Given the description of an element on the screen output the (x, y) to click on. 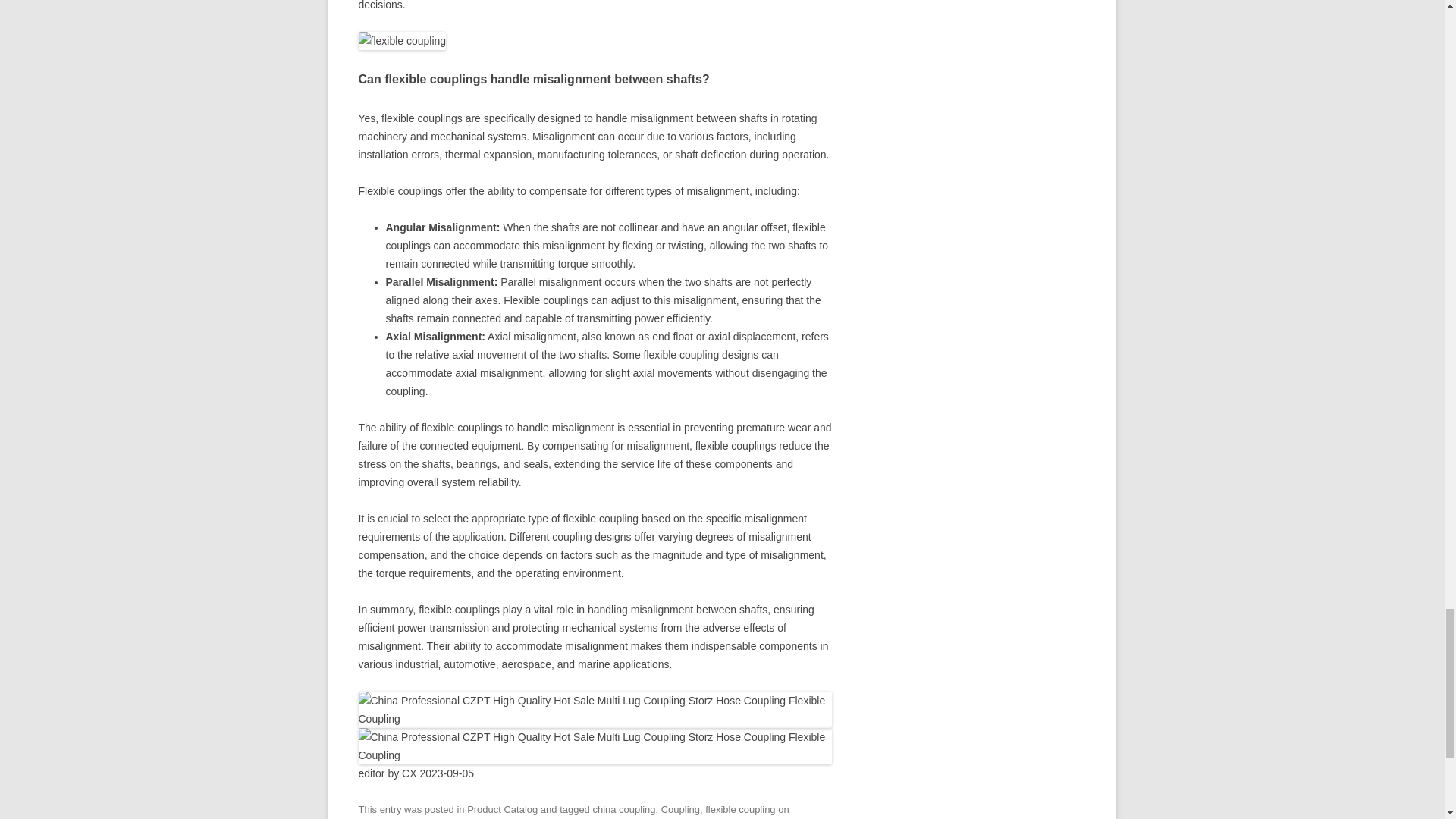
Coupling (680, 808)
Product Catalog (502, 808)
flexible coupling (739, 808)
china coupling (623, 808)
